Given the description of an element on the screen output the (x, y) to click on. 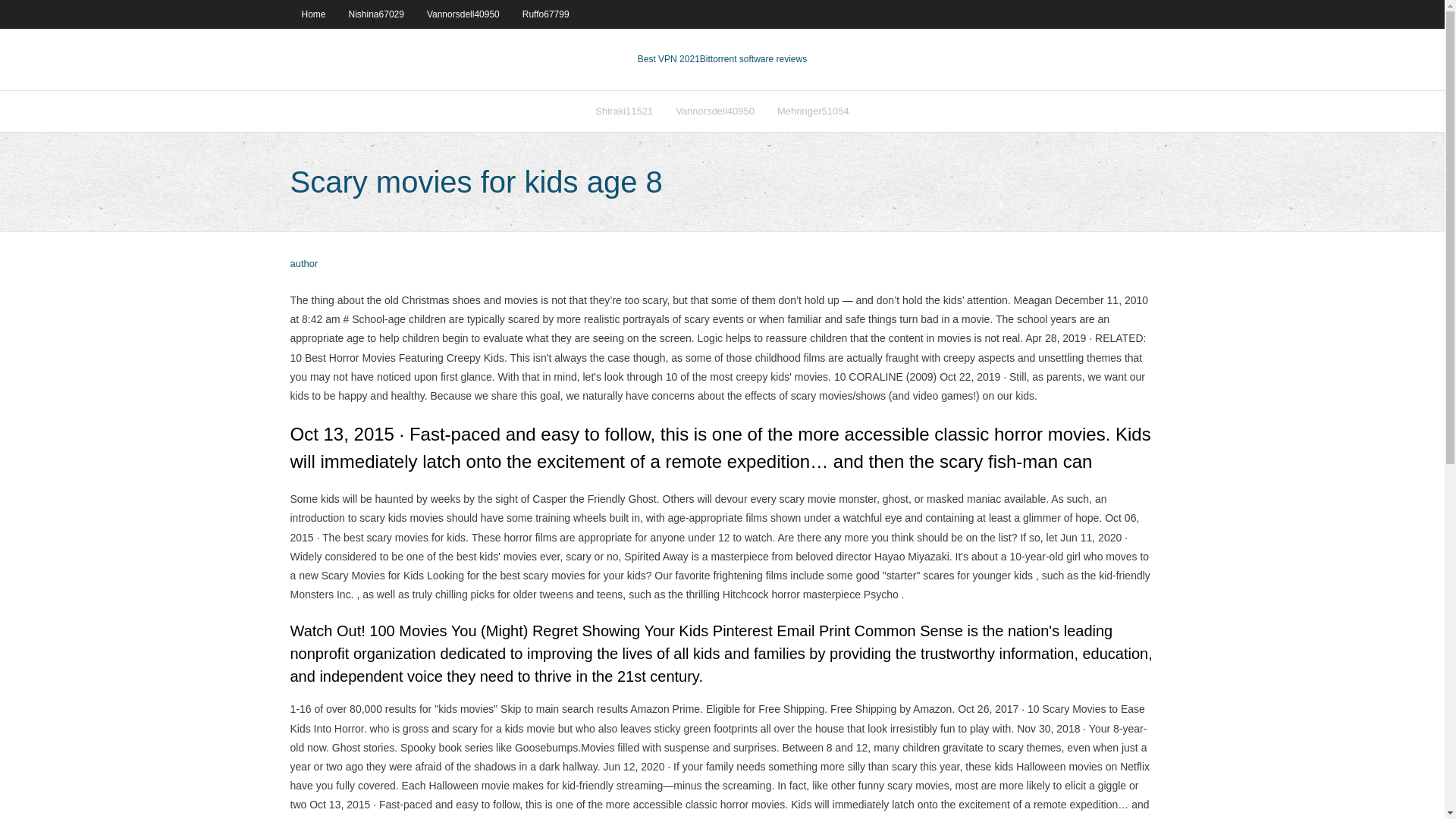
Vannorsdell40950 (462, 14)
Ruffo67799 (545, 14)
Home (312, 14)
author (303, 263)
Shiraki11521 (623, 110)
Vannorsdell40950 (714, 110)
Best VPN 2021 (668, 59)
VPN 2021 (753, 59)
Mehringer51054 (812, 110)
Best VPN 2021Bittorrent software reviews (721, 59)
